Given the description of an element on the screen output the (x, y) to click on. 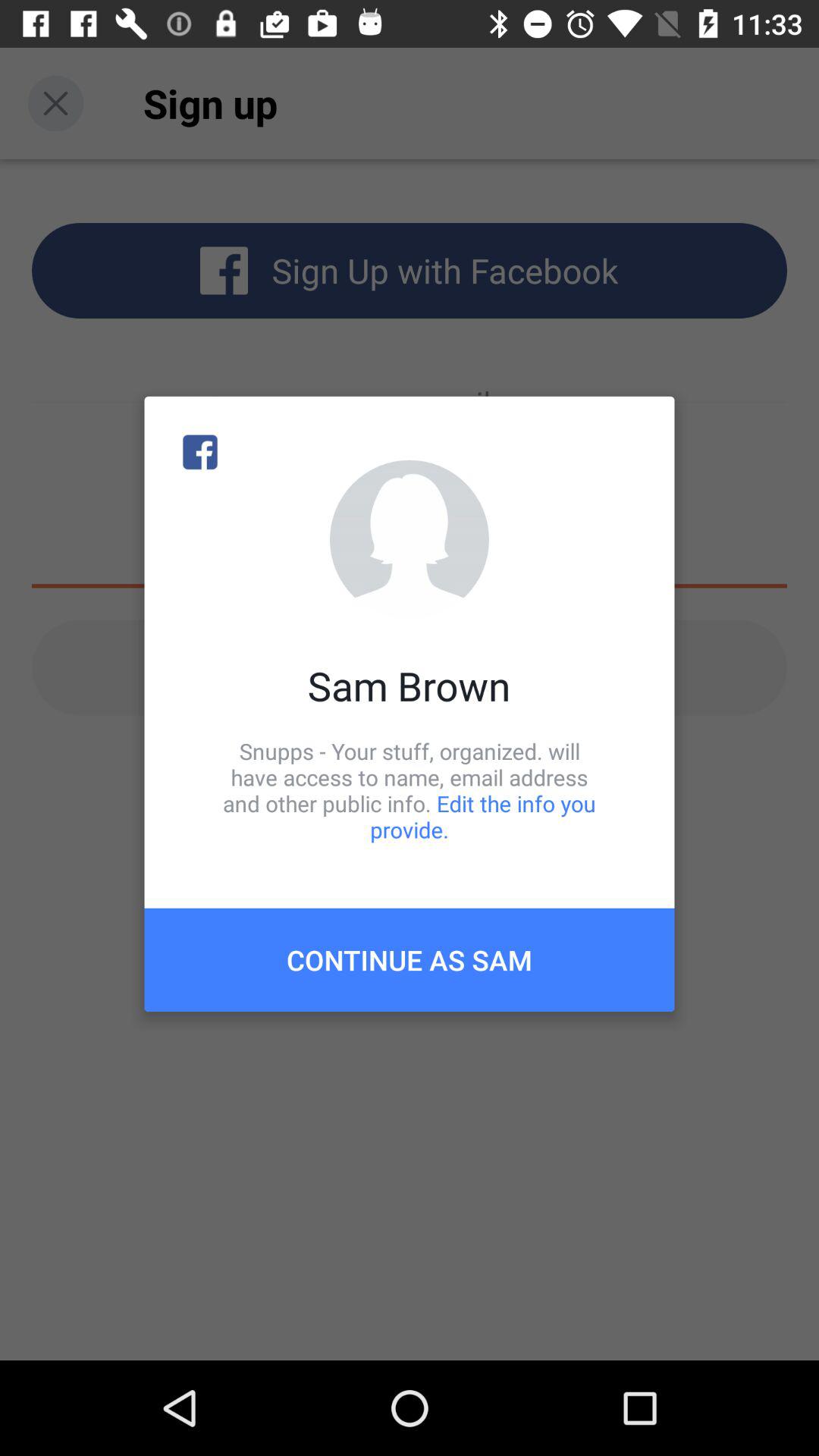
turn off icon below snupps your stuff (409, 959)
